Given the description of an element on the screen output the (x, y) to click on. 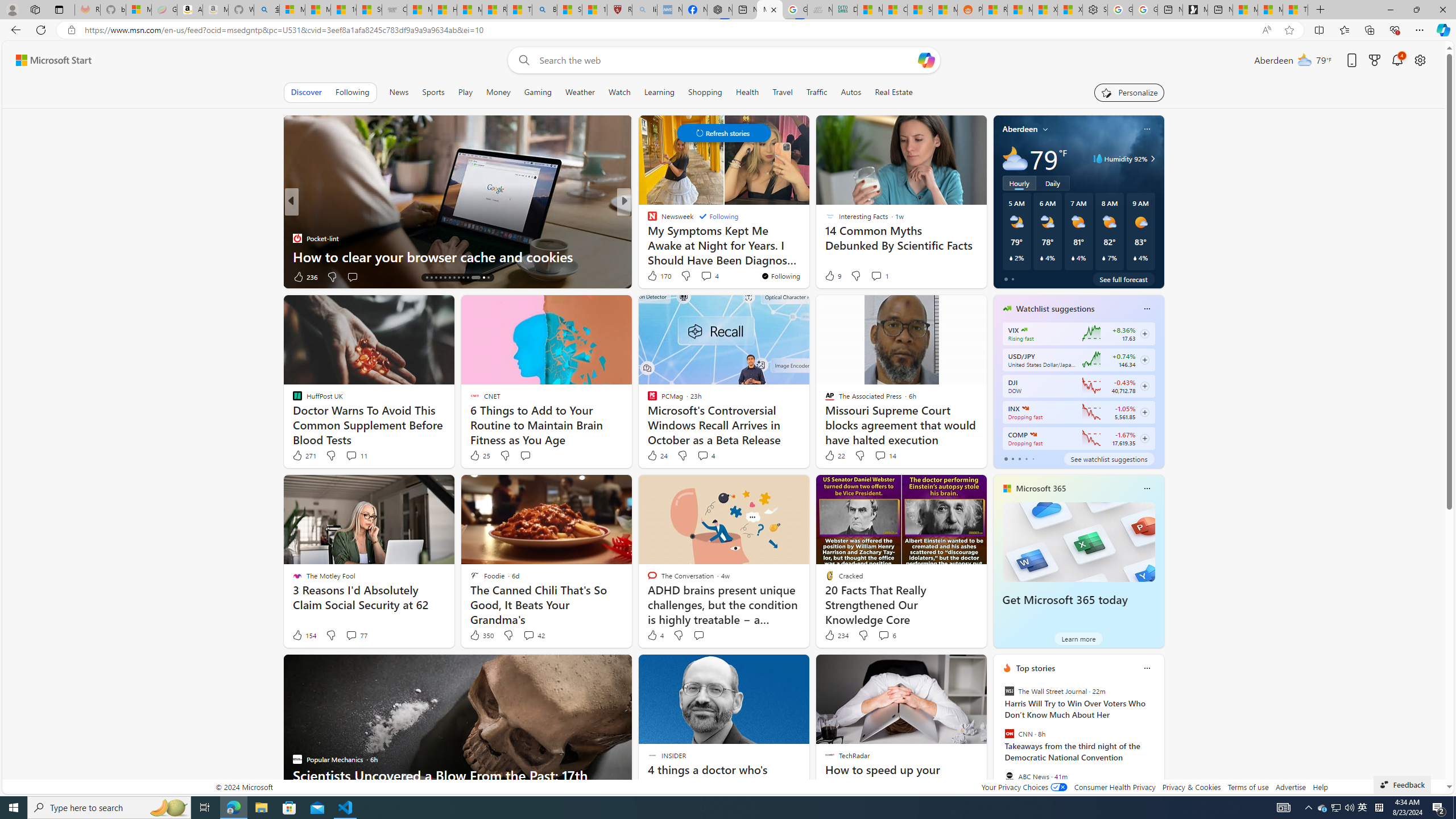
tab-2 (1019, 458)
Autos (851, 92)
tab-4 (1032, 458)
Weather (580, 92)
previous (998, 741)
CBOE Market Volatility Index (1023, 329)
Skip to footer (46, 59)
